Given the description of an element on the screen output the (x, y) to click on. 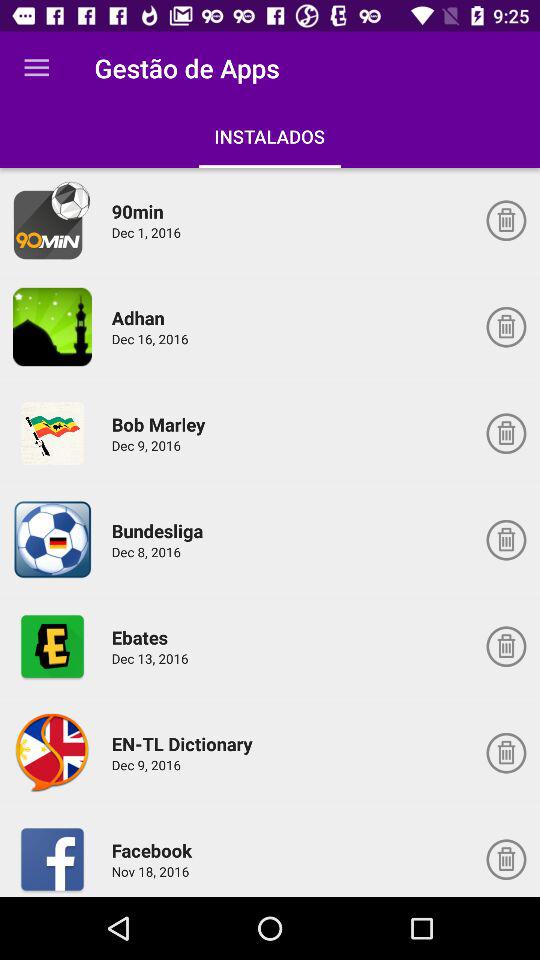
tap the item above the nov 18, 2016 item (154, 850)
